Given the description of an element on the screen output the (x, y) to click on. 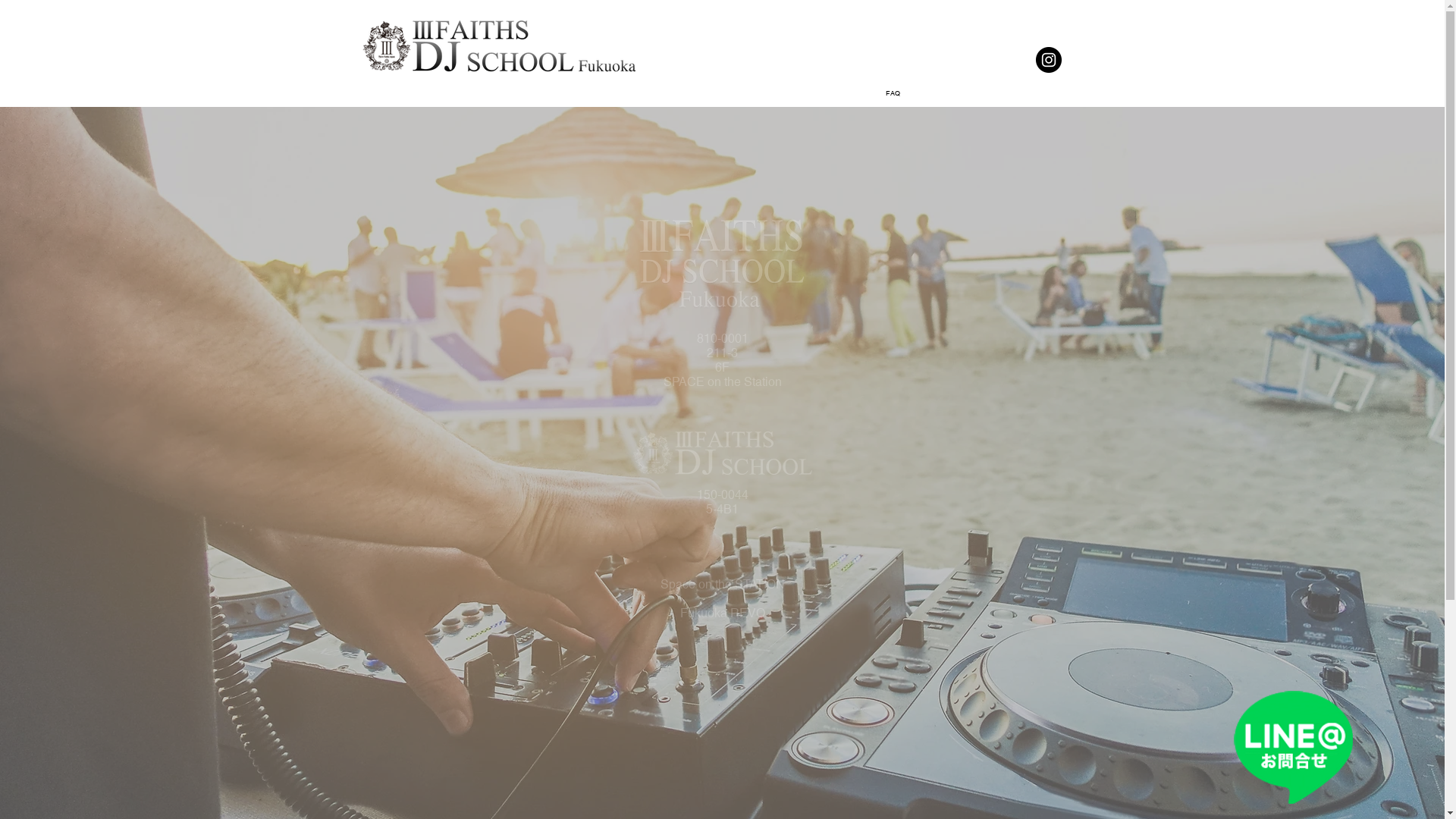
FAQ Element type: text (892, 92)
